Given the description of an element on the screen output the (x, y) to click on. 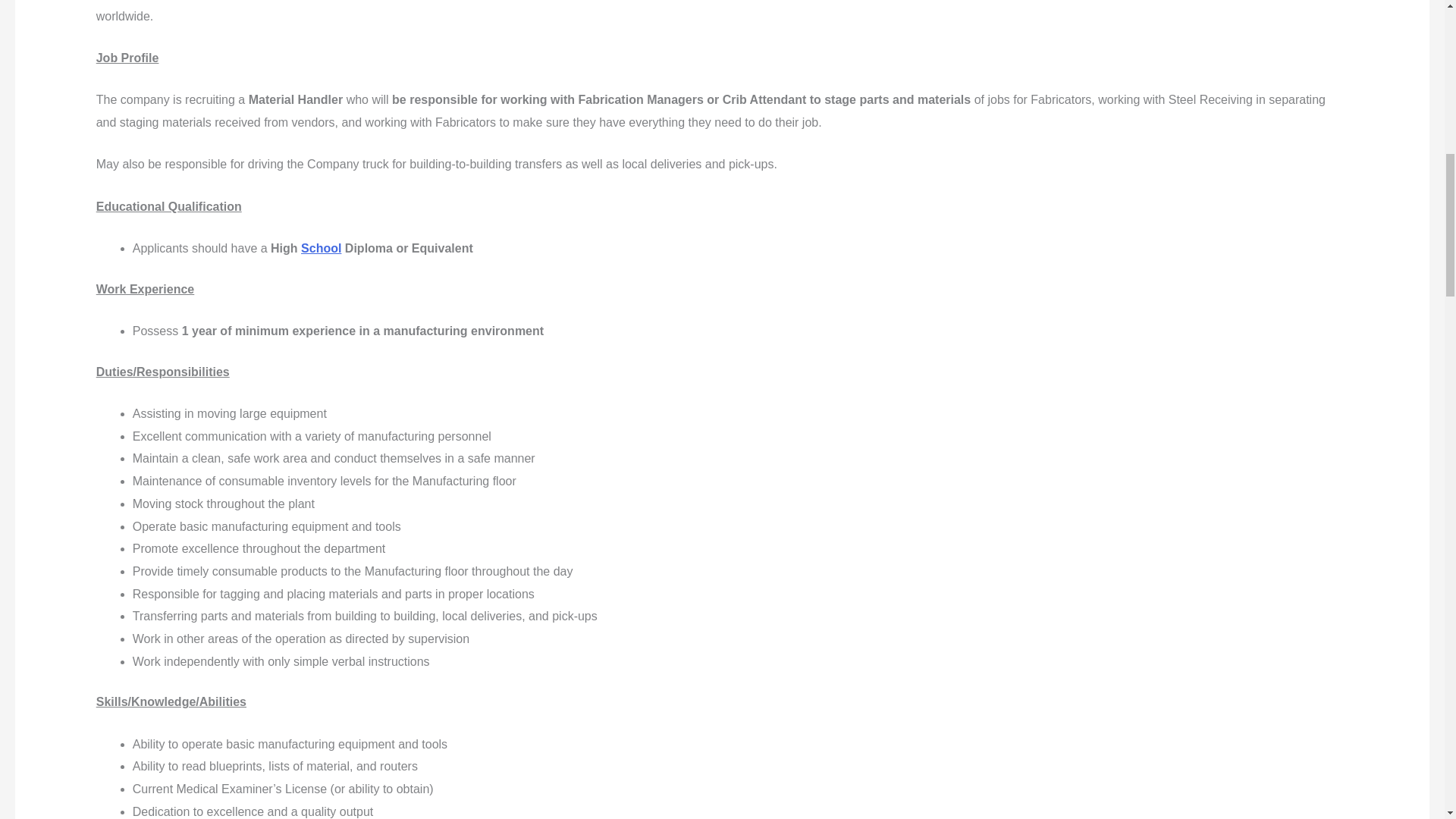
School (320, 247)
